Given the description of an element on the screen output the (x, y) to click on. 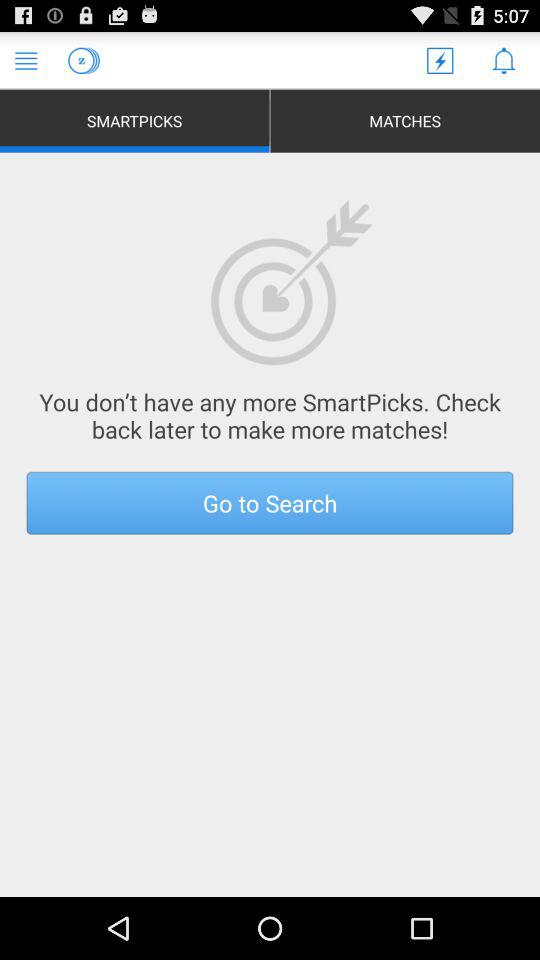
notifications (503, 59)
